Given the description of an element on the screen output the (x, y) to click on. 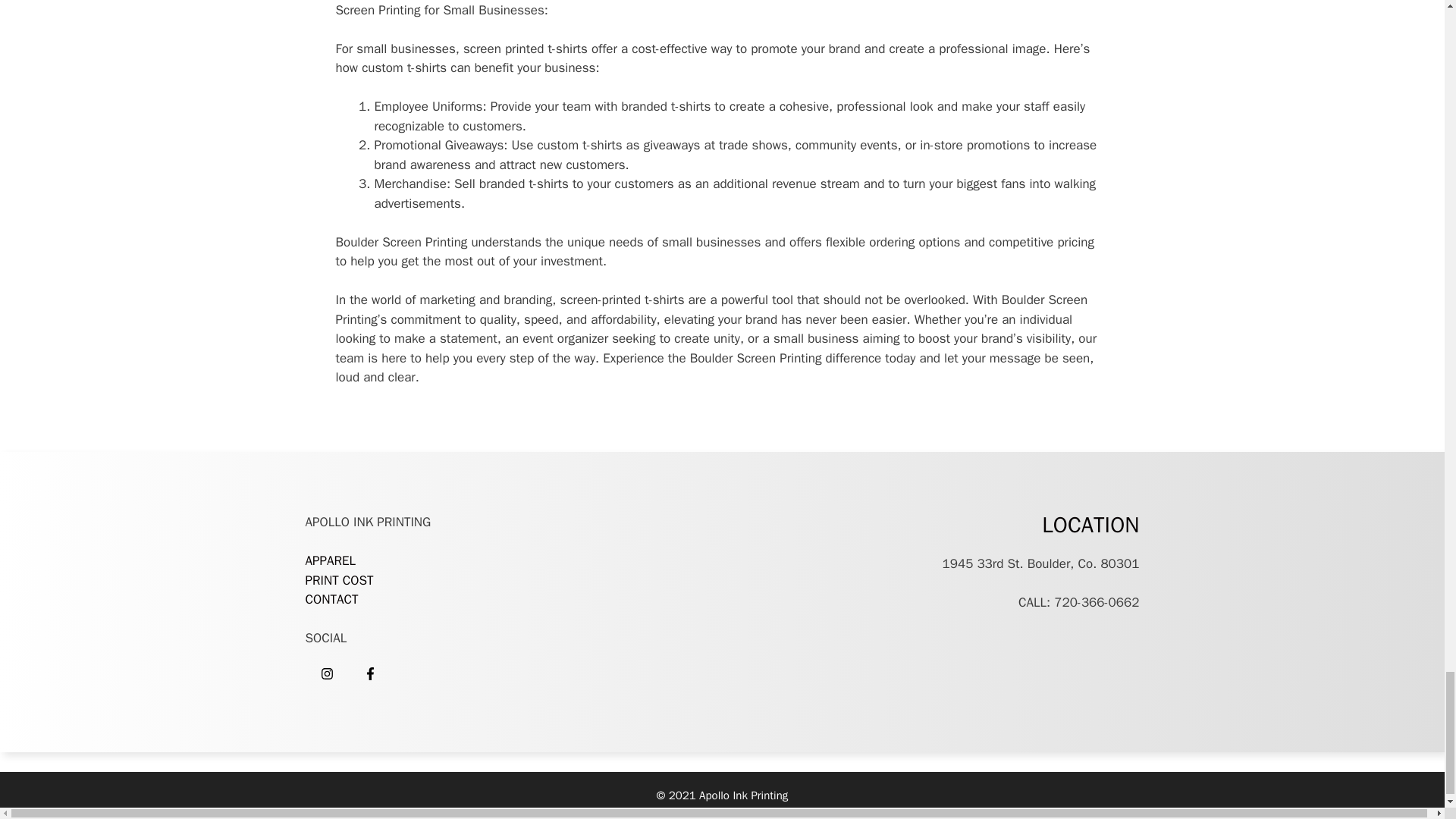
LOCATION (1090, 524)
PRINT COST (340, 580)
CONTACT (331, 599)
APPAREL (329, 560)
